Given the description of an element on the screen output the (x, y) to click on. 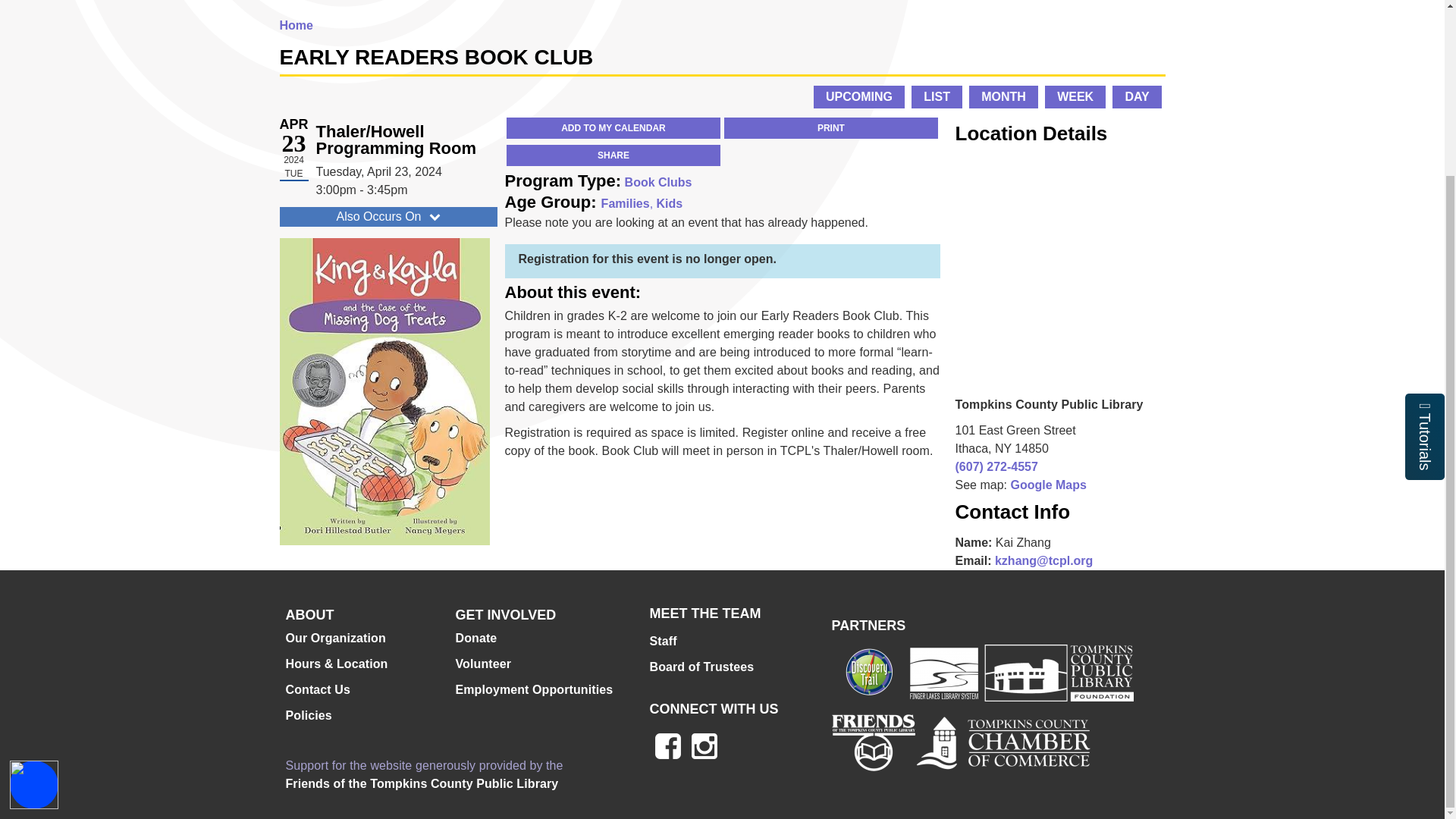
Instagram (703, 746)
Print this event (830, 127)
Friends of the TCPL (872, 742)
Tompkins County Chamber of Commerce (1002, 742)
Add To My Calendar (612, 127)
Discovery Trail (869, 672)
Facebook (667, 746)
Friends of the Tompkins County Public Library (421, 783)
Accessibility Menu (34, 571)
Share this event (612, 155)
Finger Lakes Library System (943, 672)
TCPL Foundation (1055, 672)
